Given the description of an element on the screen output the (x, y) to click on. 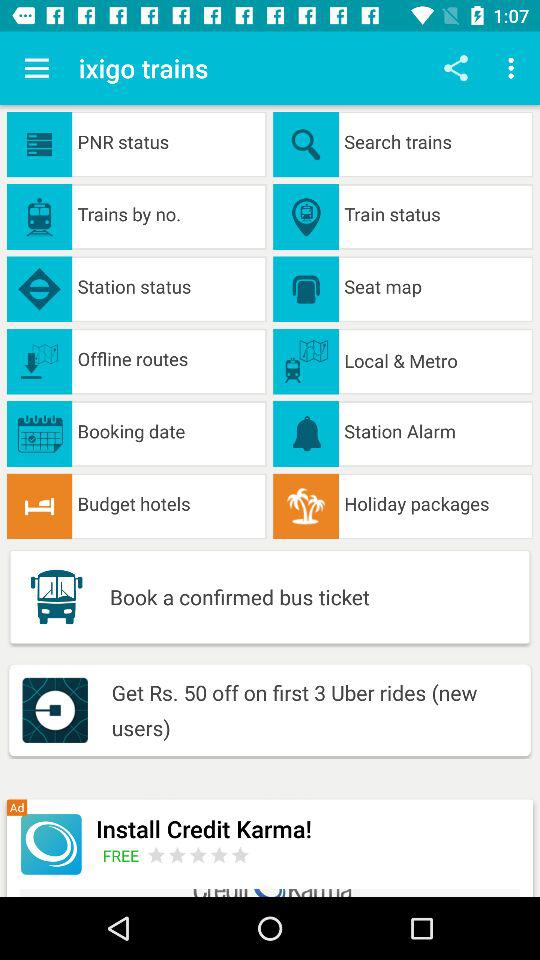
press icon below the install credit karma! item (123, 855)
